Given the description of an element on the screen output the (x, y) to click on. 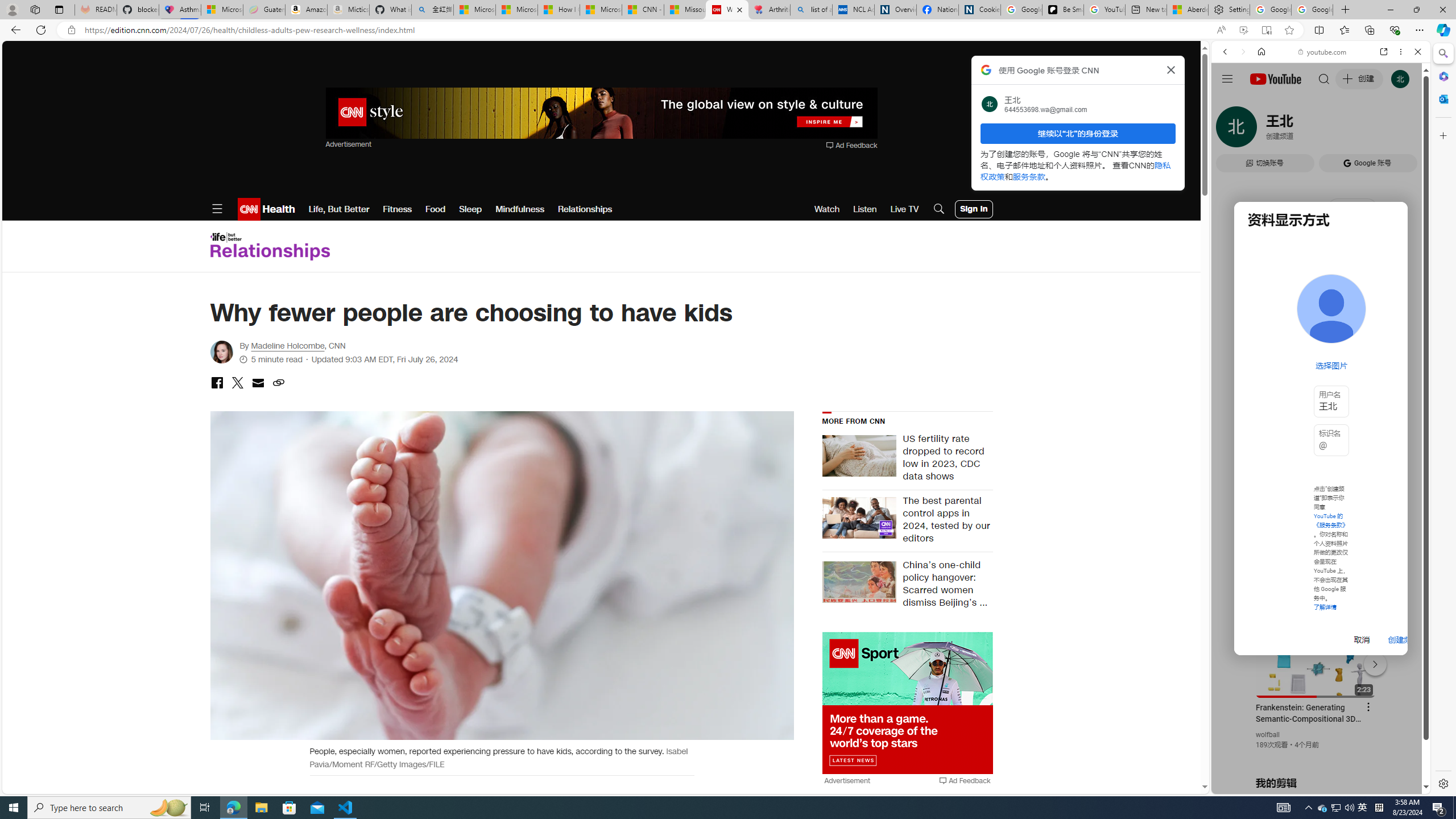
Mindfulness (519, 209)
share with email (257, 384)
YouTube (1315, 655)
Madeline Holcombe (287, 345)
Cookies (979, 9)
